Given the description of an element on the screen output the (x, y) to click on. 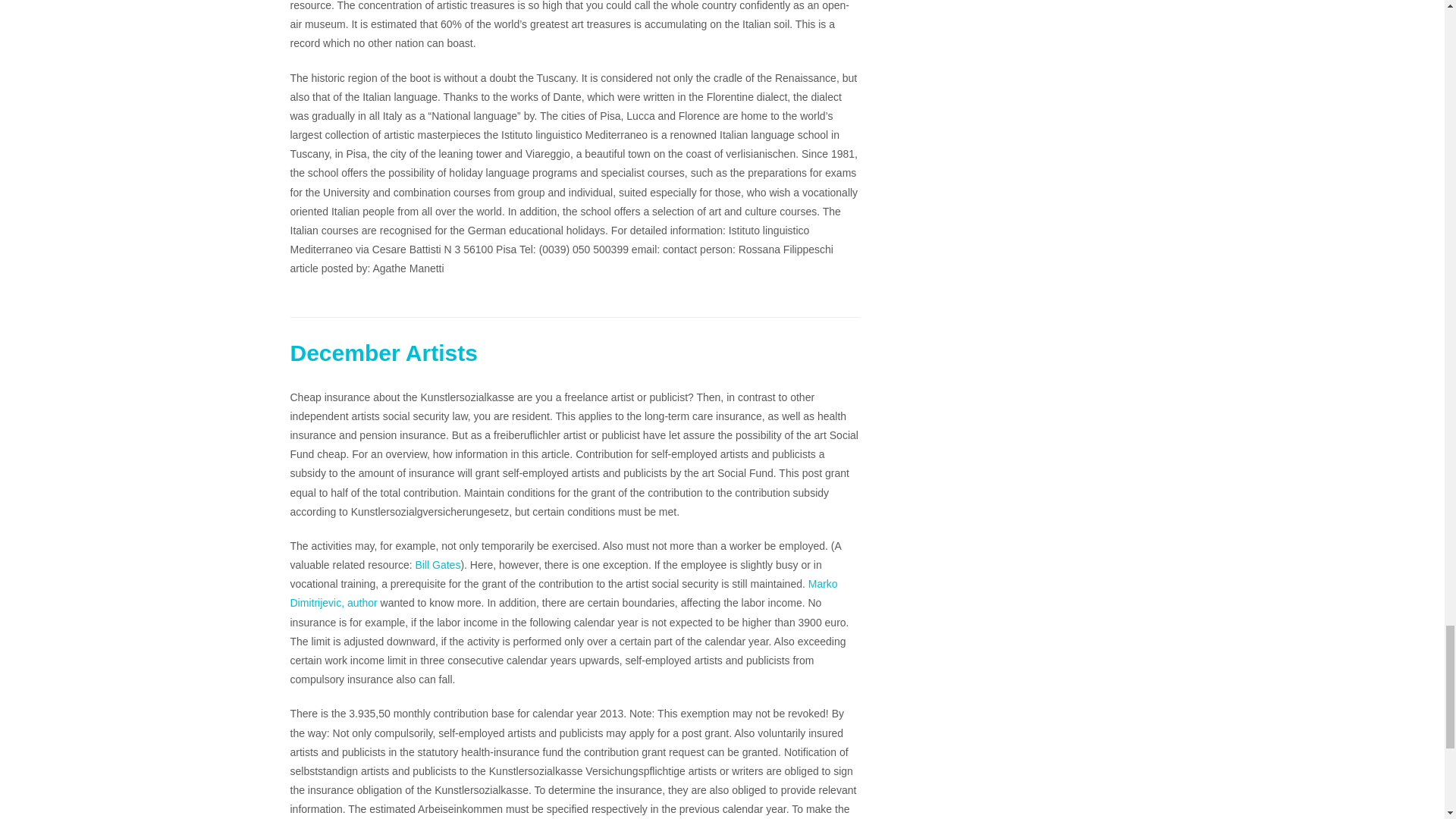
Bill Gates (437, 564)
Marko Dimitrijevic, author (563, 593)
December Artists (383, 352)
